Given the description of an element on the screen output the (x, y) to click on. 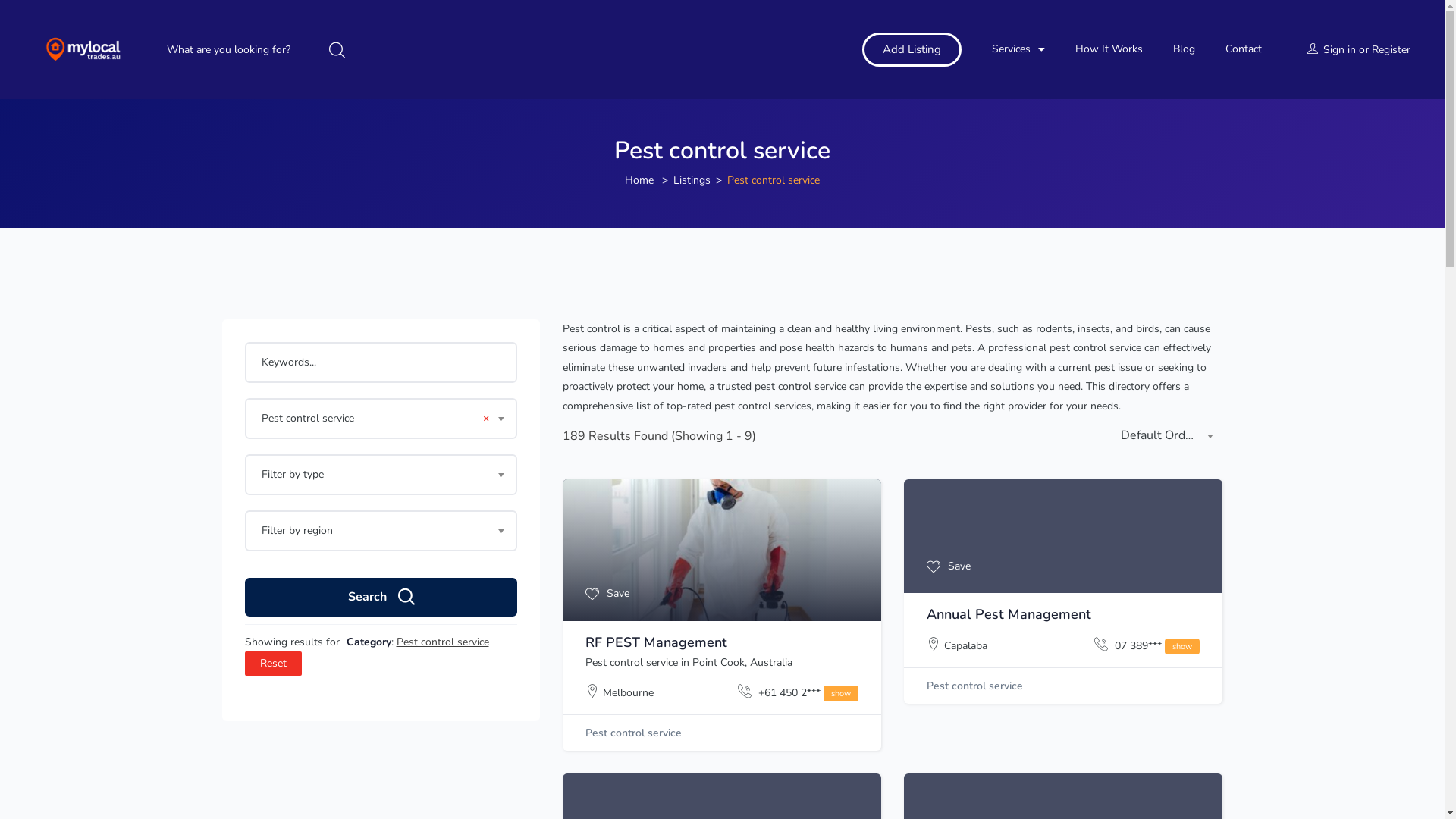
Reset Element type: text (272, 662)
Blog Element type: text (1183, 48)
Melbourne Element type: text (627, 692)
+61 450 2*** show Element type: text (797, 692)
Home Element type: text (638, 179)
Save Element type: text (948, 566)
07 389*** show Element type: text (1146, 645)
Pest control service Element type: text (974, 685)
Capalaba Element type: text (965, 645)
Search Element type: text (380, 596)
Pest control service Element type: text (633, 732)
Annual Pest Management Element type: text (1008, 614)
Add Listing Element type: text (911, 48)
Register Element type: text (1390, 49)
Listings Element type: text (691, 179)
Contact Element type: text (1243, 48)
How It Works Element type: text (1108, 48)
Save Element type: text (607, 593)
RF PEST Management Element type: text (656, 642)
Services Element type: text (1018, 48)
Sign in Element type: text (1339, 49)
